Given the description of an element on the screen output the (x, y) to click on. 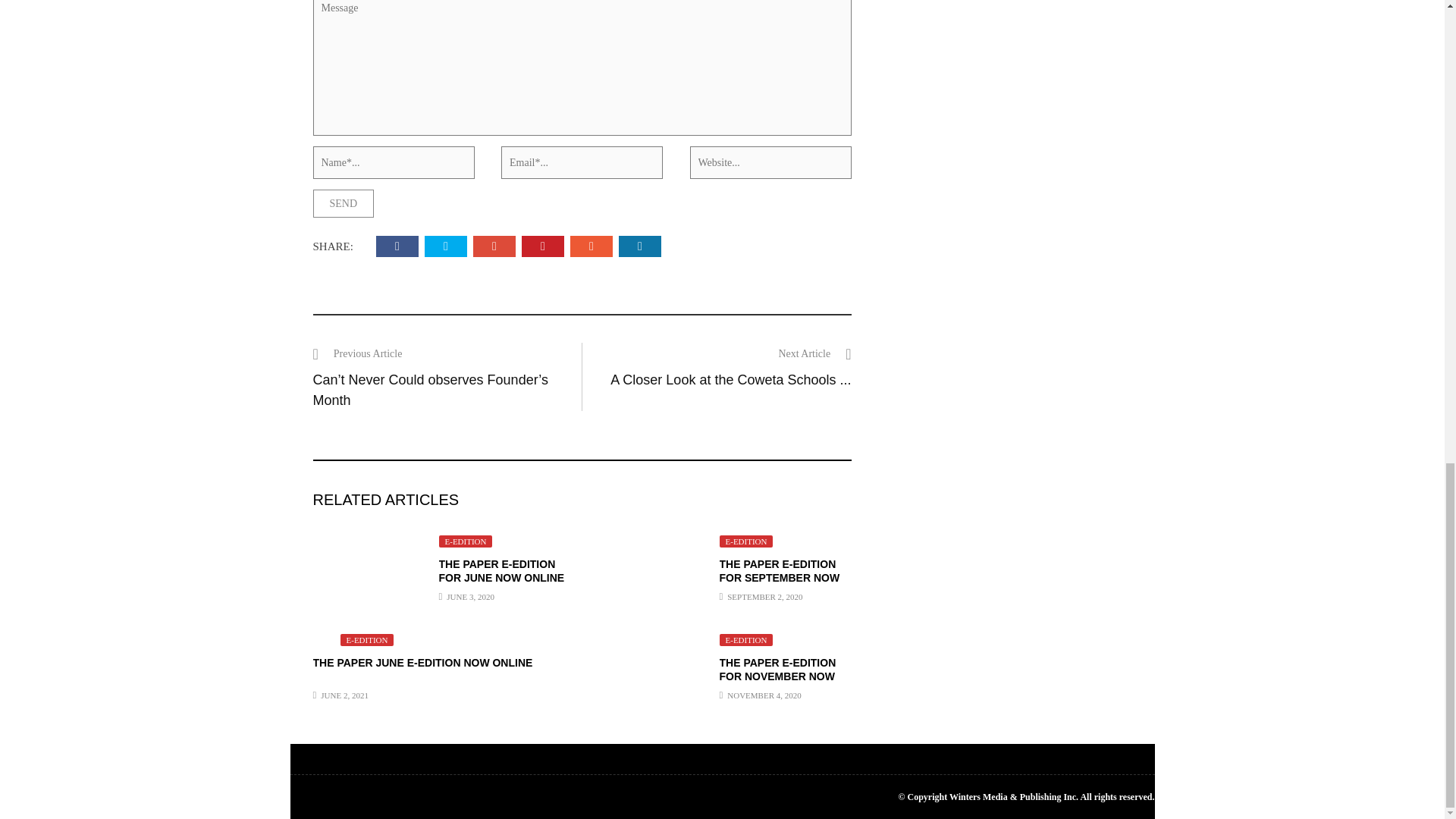
Send (343, 203)
